Given the description of an element on the screen output the (x, y) to click on. 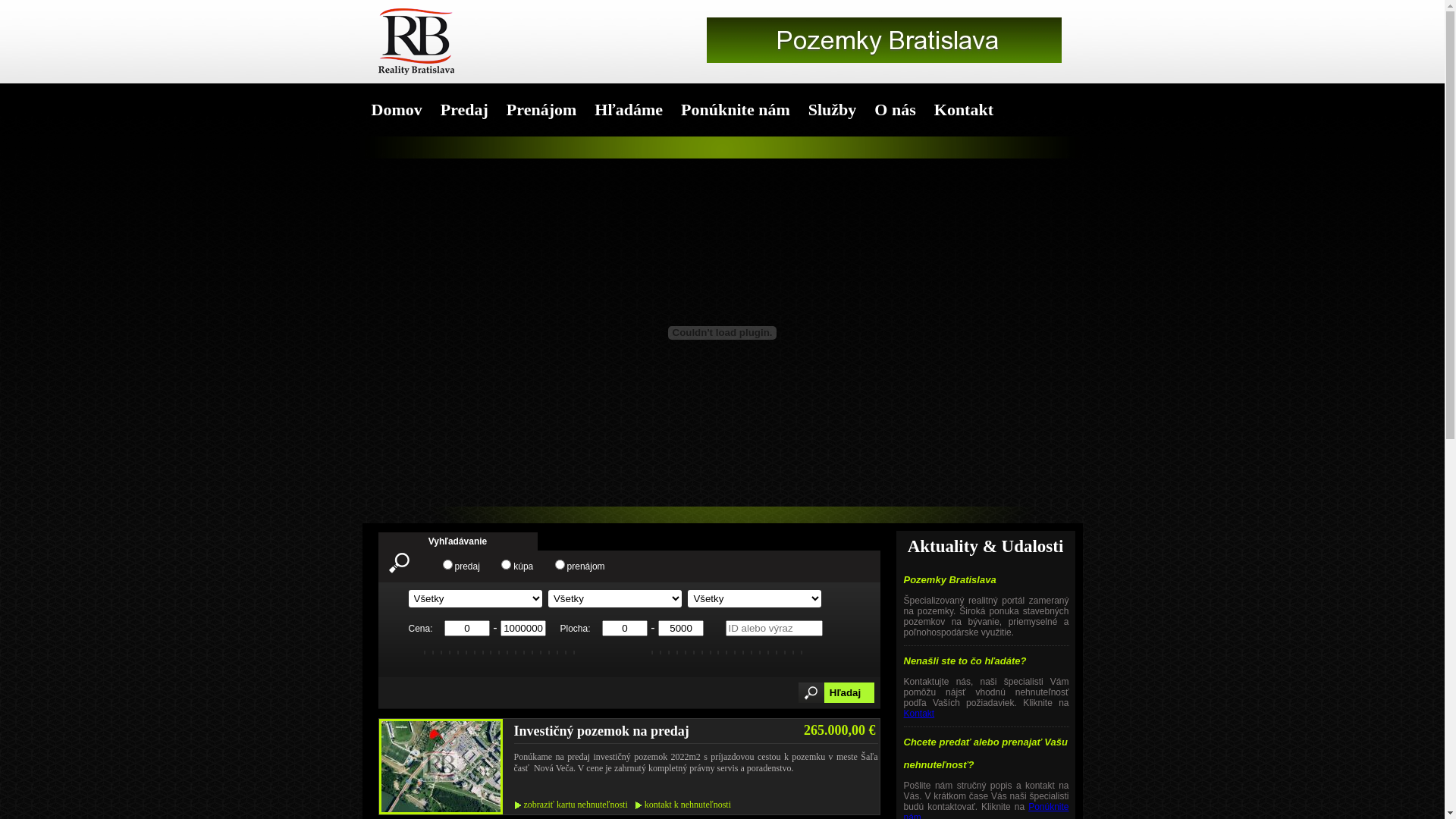
Predaj Element type: text (464, 109)
Kontakt Element type: text (919, 713)
Domov Element type: text (396, 109)
Kontakt Element type: text (963, 109)
